Given the description of an element on the screen output the (x, y) to click on. 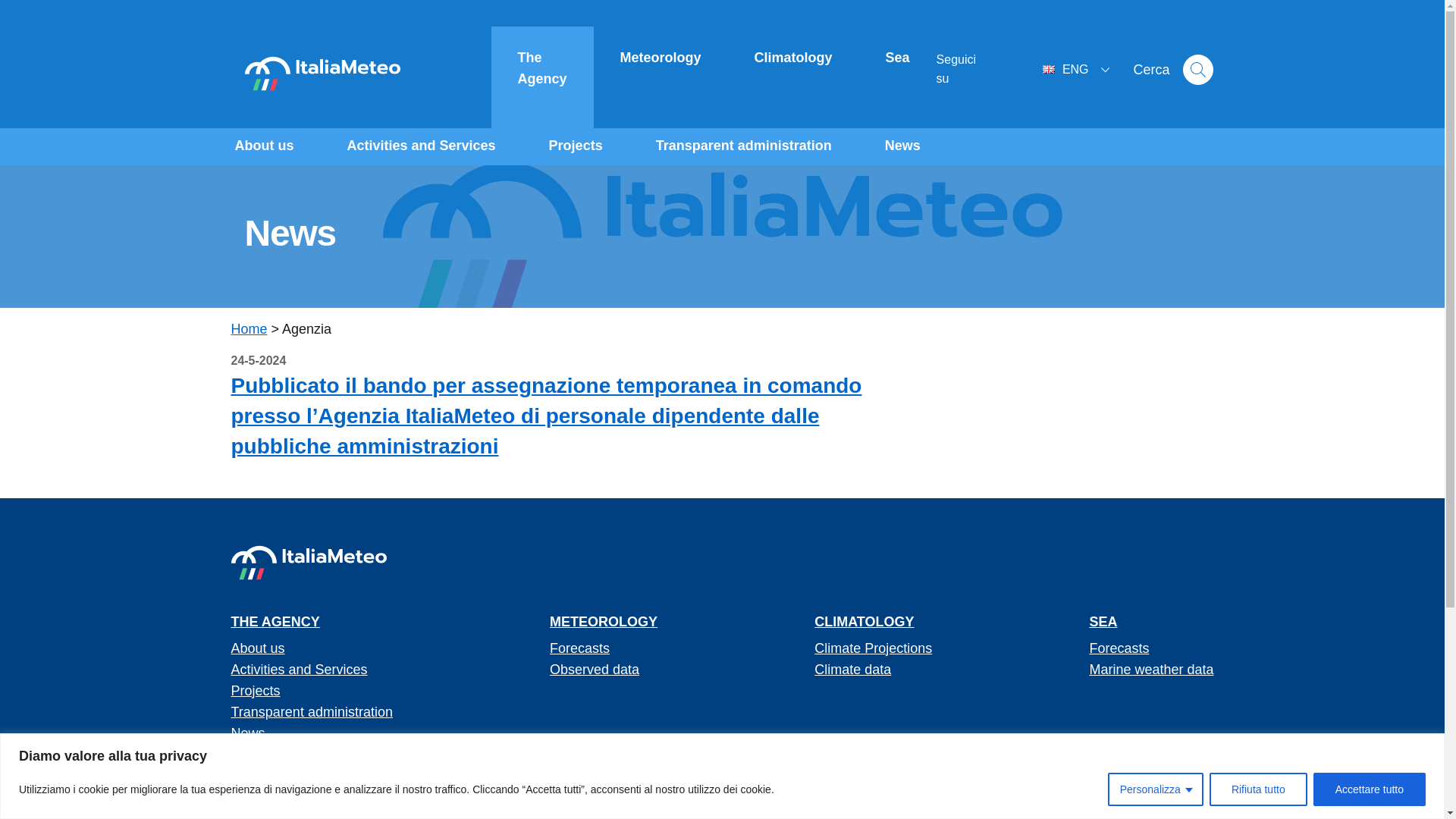
The Agency (543, 68)
Activities and Services (420, 146)
Rifiuta tutto (1258, 788)
Personalizza (1156, 788)
Projects (575, 146)
Homepage (321, 73)
About us (263, 146)
Accettare tutto (1369, 788)
Transparent administration (743, 146)
